Given the description of an element on the screen output the (x, y) to click on. 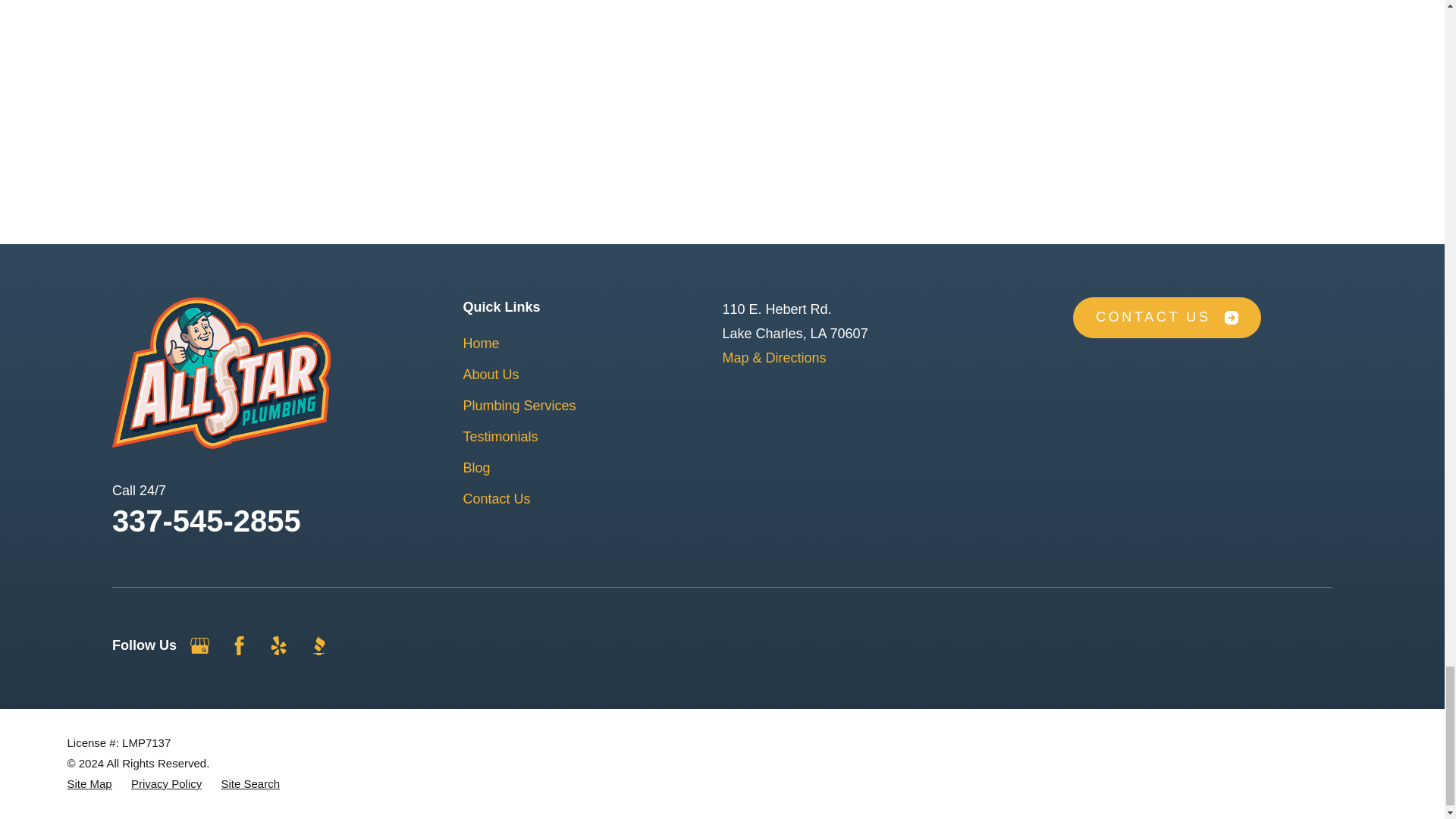
Facebook (239, 645)
Home (221, 372)
Yelp (278, 645)
BBB.org (318, 645)
Google Business Profile (199, 645)
